Given the description of an element on the screen output the (x, y) to click on. 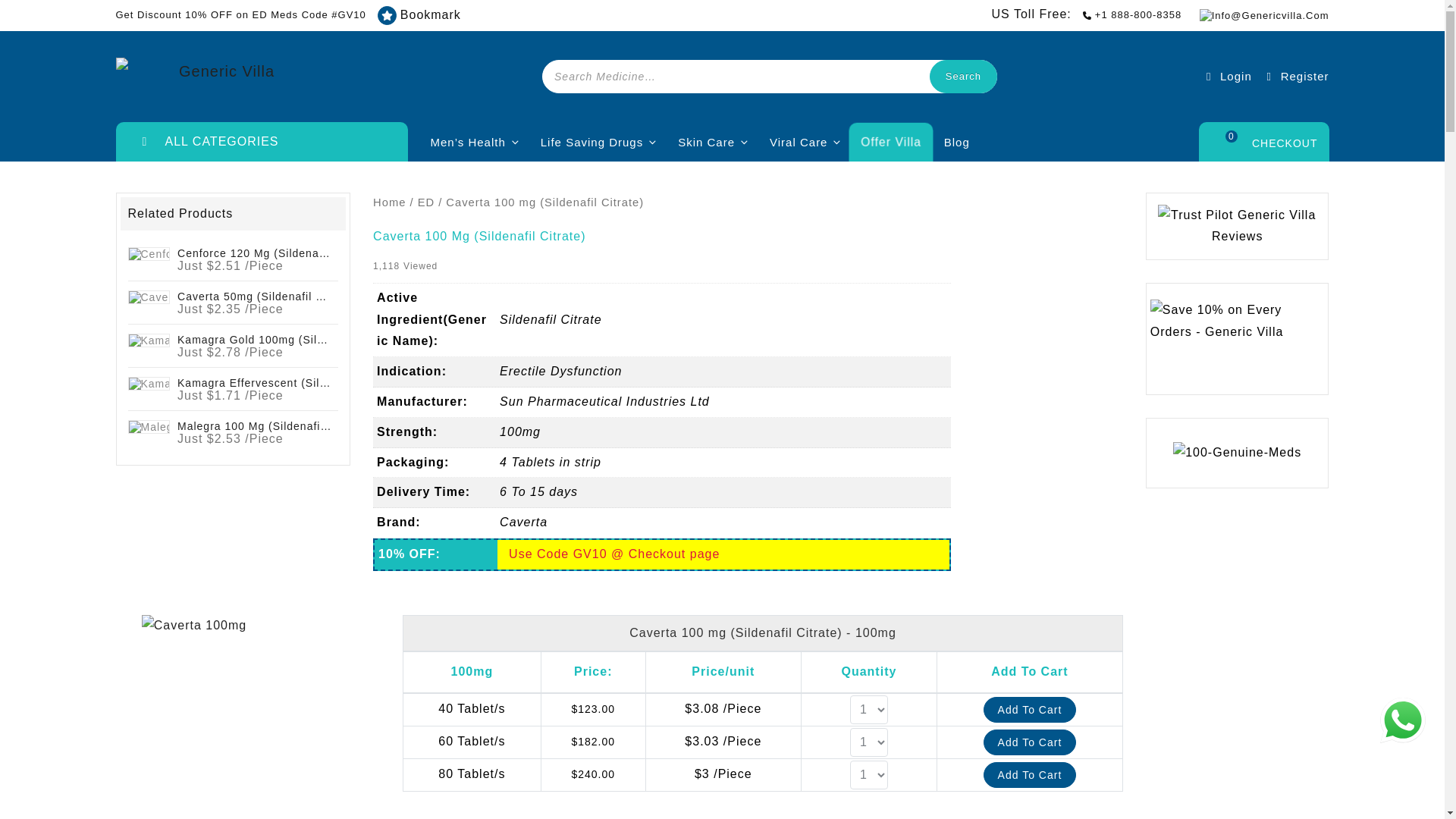
Caverta 100mg (193, 626)
Register (1294, 75)
Login (1227, 75)
ALL CATEGORIES (261, 141)
Login (1227, 75)
Search (963, 76)
